Given the description of an element on the screen output the (x, y) to click on. 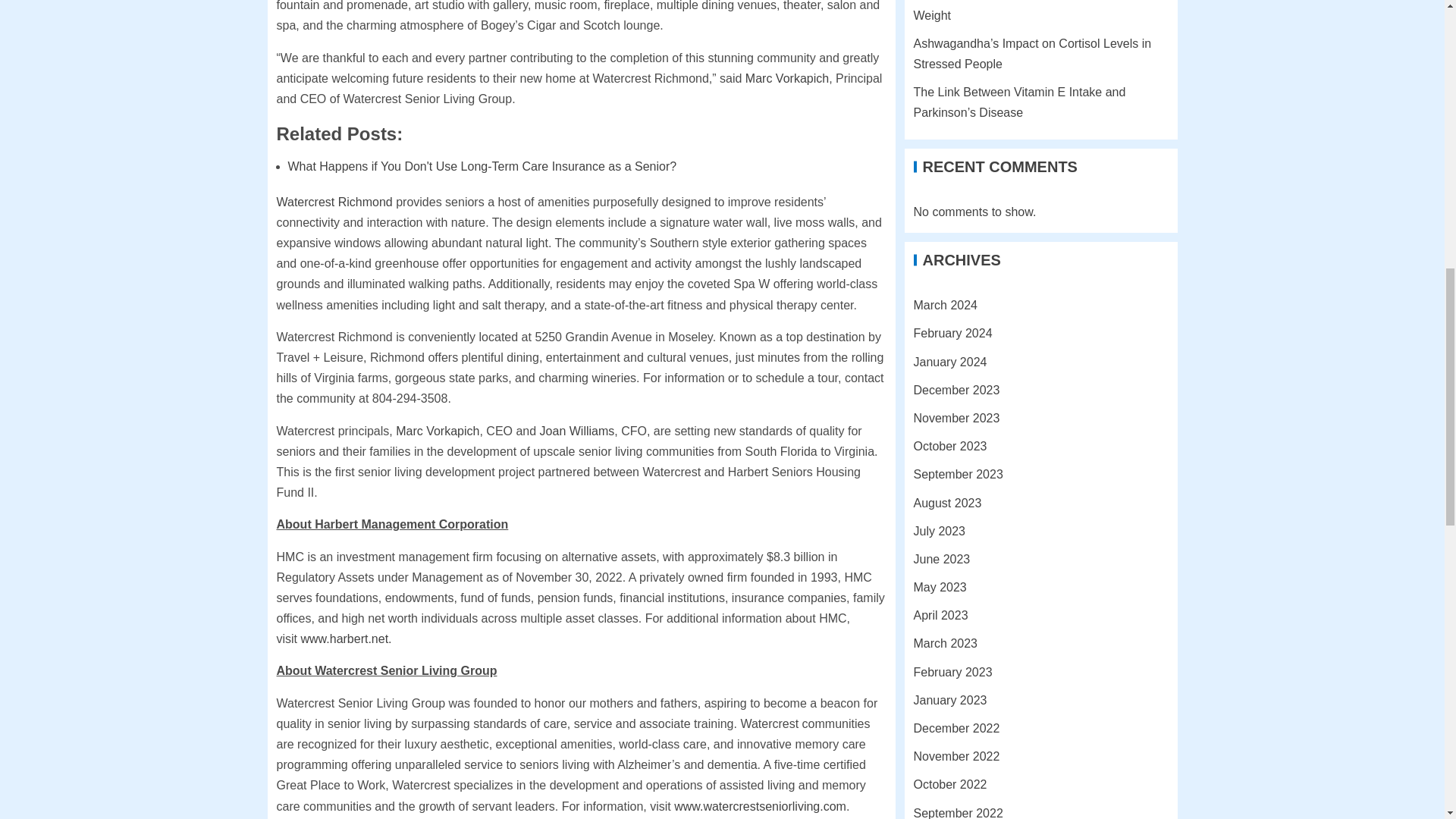
www.harbert.net. (345, 638)
Watercrest Richmond (333, 201)
Marc Vorkapich (437, 431)
www.watercrestseniorliving.com (759, 806)
Marc Vorkapich (786, 78)
Joan Williams (577, 431)
